Given the description of an element on the screen output the (x, y) to click on. 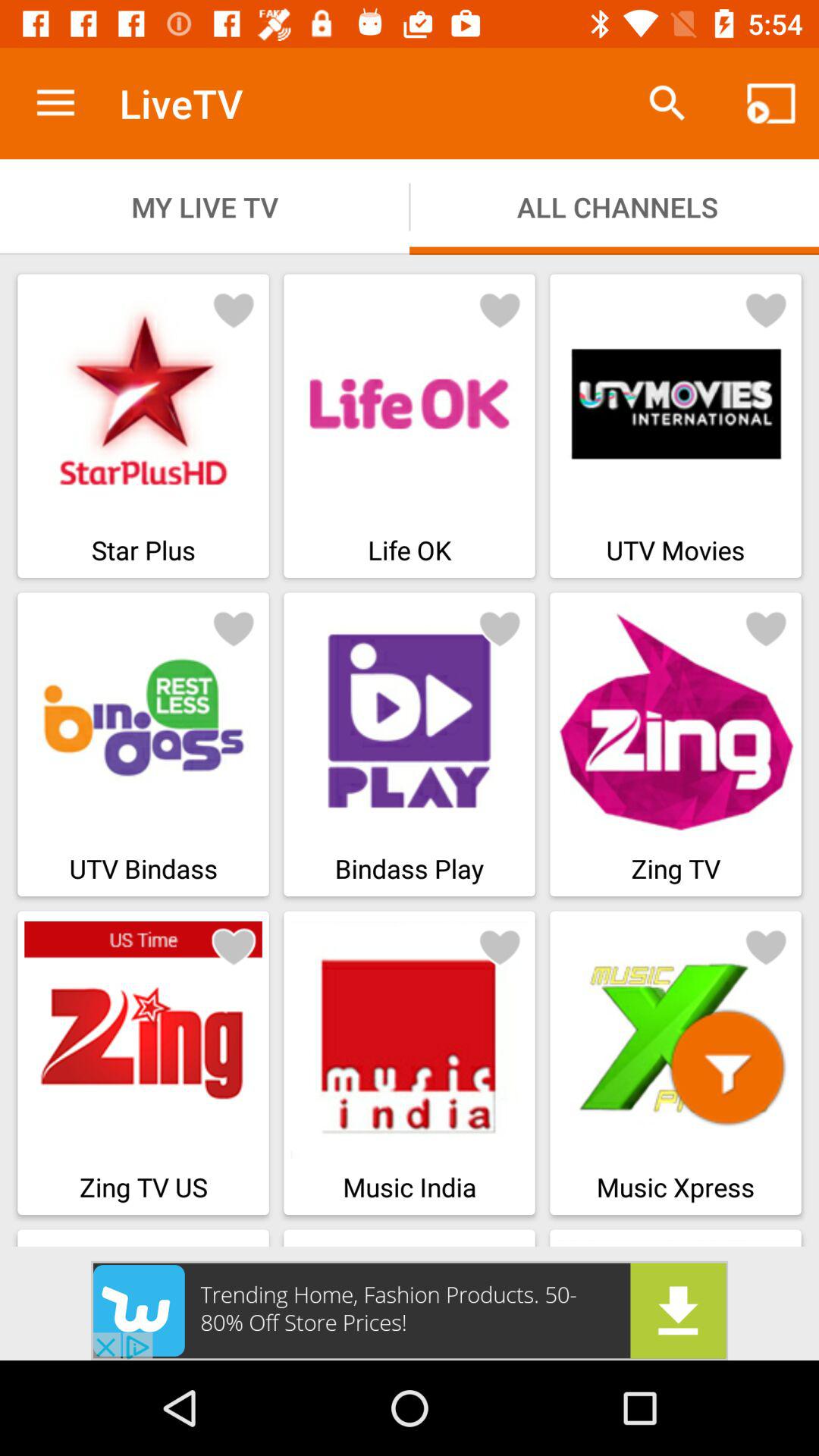
bookmark button (233, 946)
